Given the description of an element on the screen output the (x, y) to click on. 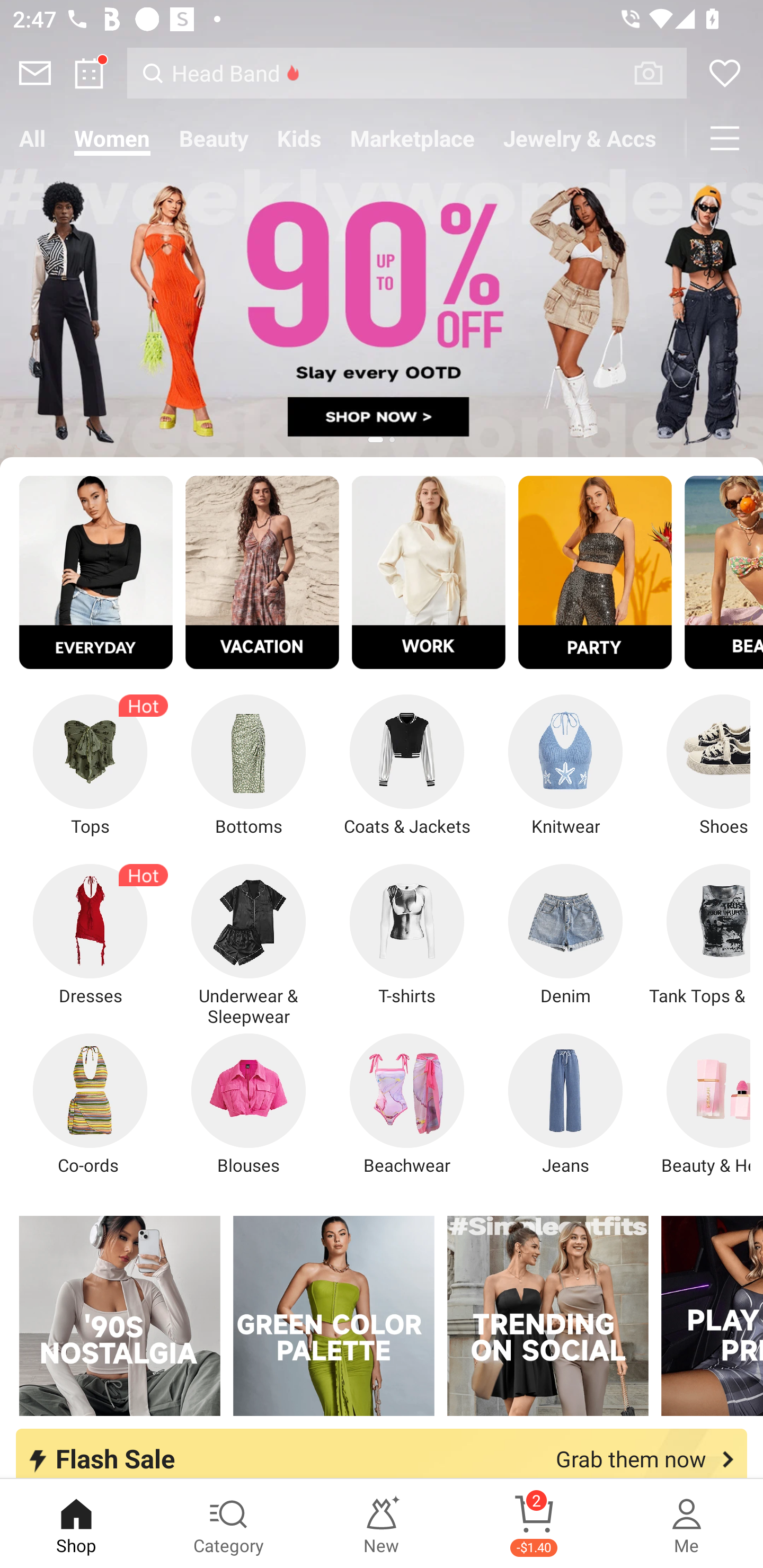
Wishlist (724, 72)
VISUAL SEARCH (657, 72)
All (31, 137)
Women (111, 137)
Beauty (213, 137)
Kids (298, 137)
Marketplace (412, 137)
Jewelry & Accs (580, 137)
Tops (89, 765)
Bottoms (248, 765)
Coats & Jackets (406, 765)
Knitwear (565, 765)
Shoes (698, 765)
Dresses (89, 934)
Underwear & Sleepwear (248, 945)
T-shirts (406, 934)
Denim (565, 934)
Tank Tops & Camis (698, 934)
Co-ords  (89, 1104)
Blouses (248, 1104)
Beachwear (406, 1104)
Jeans (565, 1104)
Beauty & Health (698, 1104)
Category (228, 1523)
New (381, 1523)
Cart 2 -$1.40 (533, 1523)
Me (686, 1523)
